Given the description of an element on the screen output the (x, y) to click on. 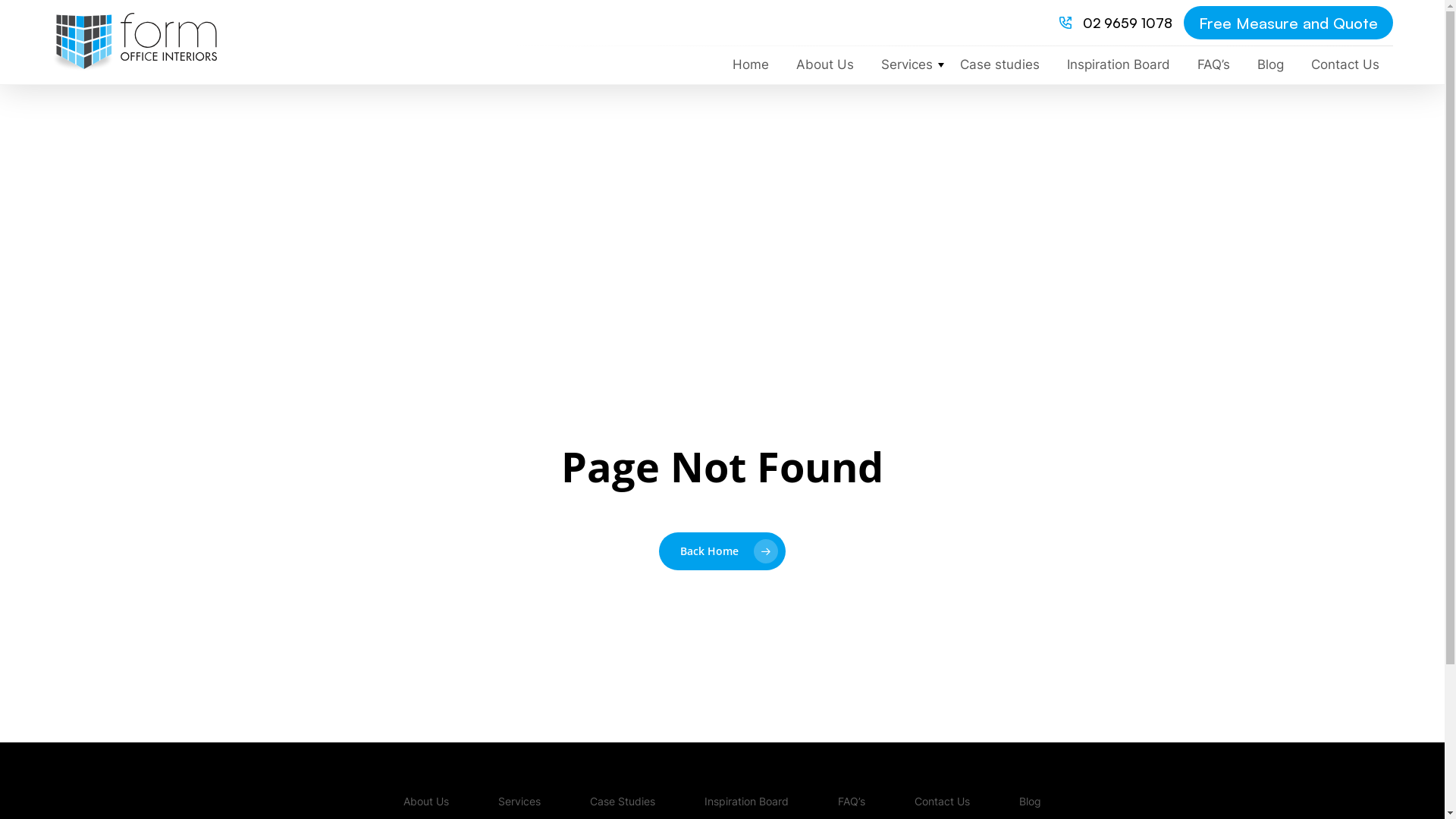
About Us Element type: text (824, 64)
Home Element type: text (750, 64)
Back Home Element type: text (721, 551)
Contact Us Element type: text (1345, 64)
Case studies Element type: text (999, 64)
02 9659 1078 Element type: text (1127, 22)
Free Measure and Quote Element type: text (1288, 22)
Contact Us Element type: text (941, 801)
Services Element type: text (906, 64)
Services Element type: text (519, 801)
About Us Element type: text (425, 801)
Inspiration Board Element type: text (746, 801)
Case Studies Element type: text (622, 801)
Blog Element type: text (1270, 64)
Blog Element type: text (1030, 801)
Inspiration Board Element type: text (1118, 64)
